Given the description of an element on the screen output the (x, y) to click on. 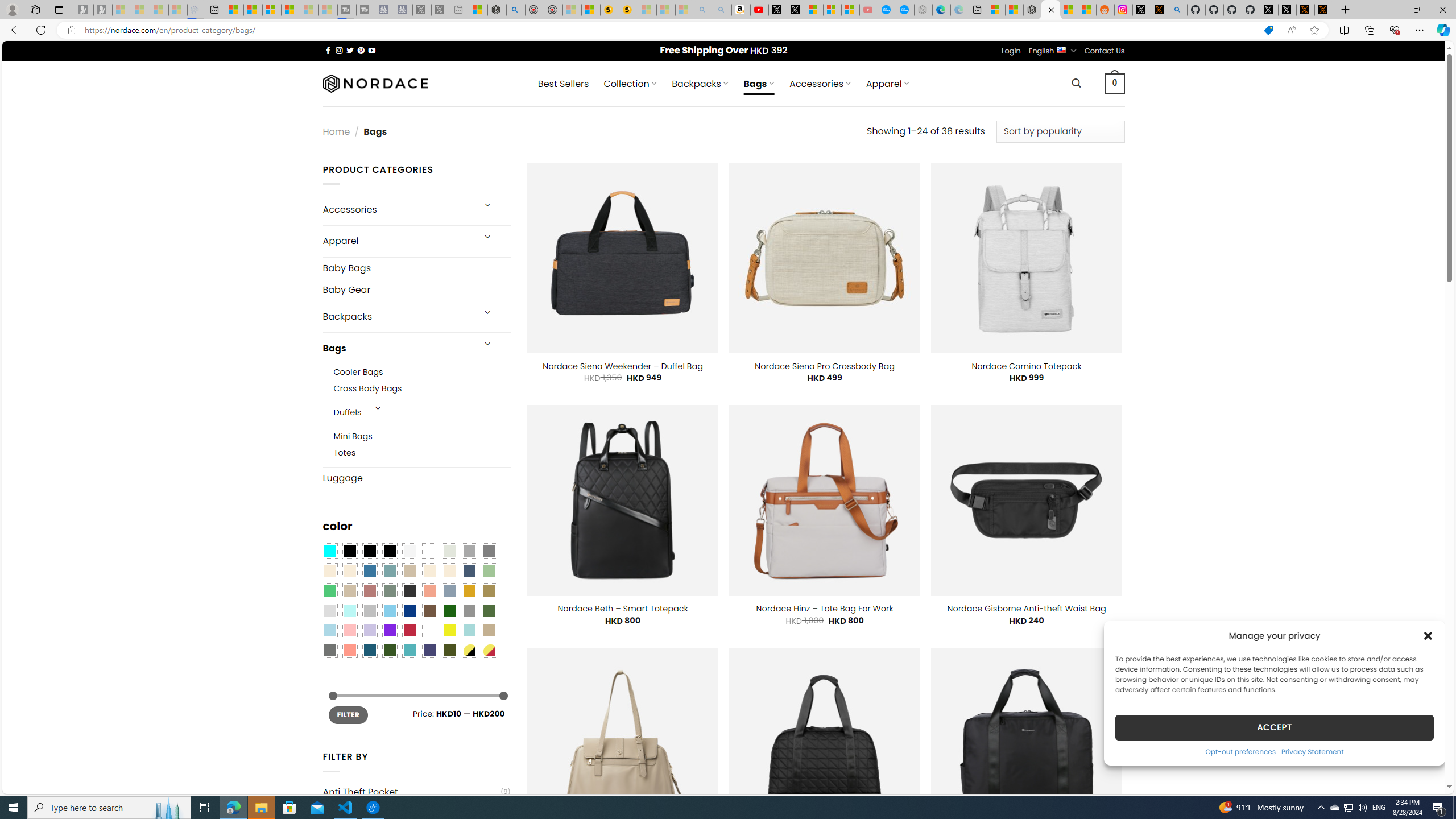
Yellow-Black (468, 649)
Overview (271, 9)
Follow on Twitter (349, 49)
Home (335, 131)
Nordace - Bags (1050, 9)
Gloom - YouTube - Sleeping (868, 9)
github - Search (1178, 9)
Dull Nickle (329, 649)
Mint (349, 610)
Add this page to favorites (Ctrl+D) (1314, 29)
  0   (1115, 83)
